Given the description of an element on the screen output the (x, y) to click on. 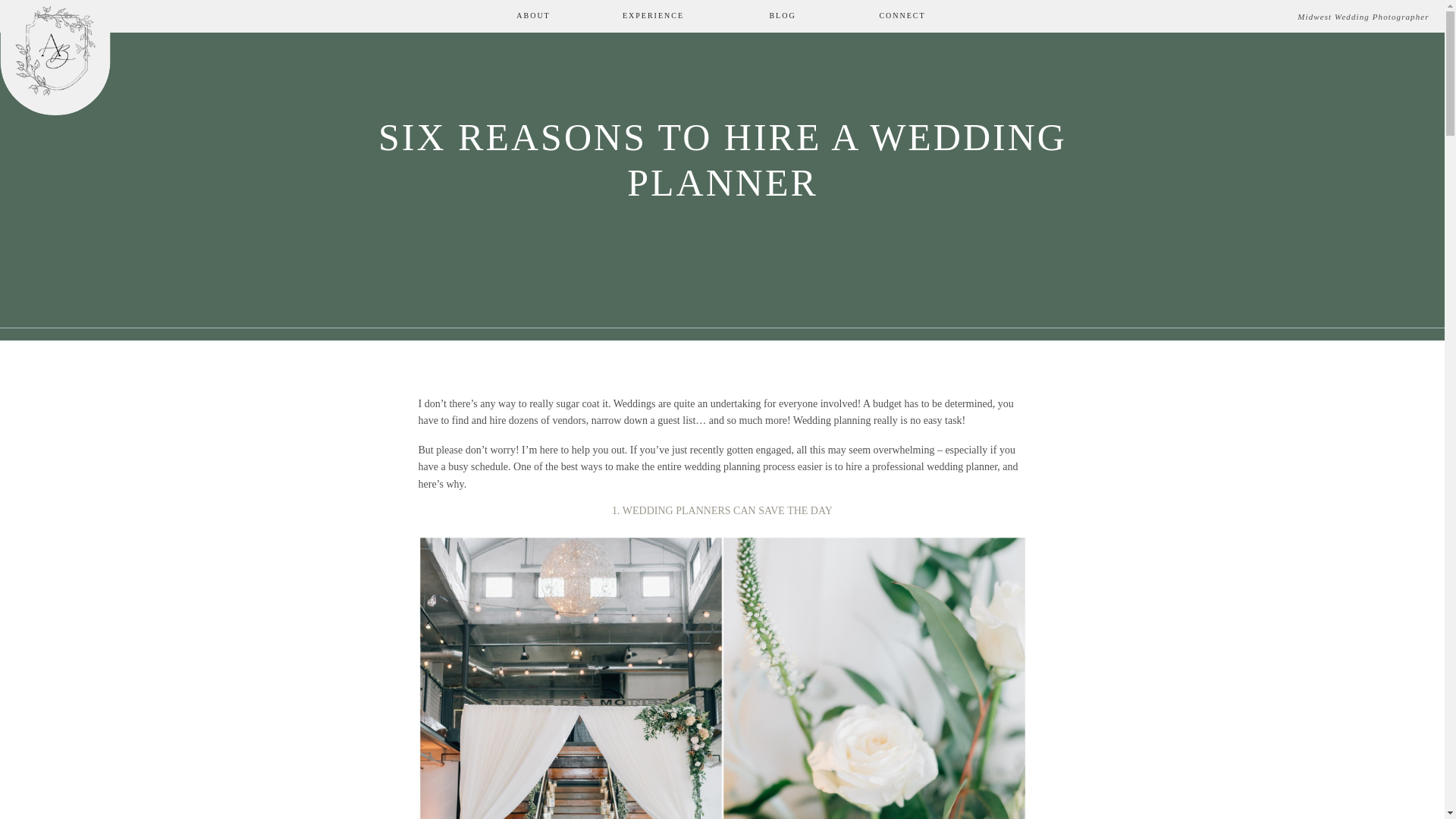
CONNECT (902, 16)
EXPERIENCE (652, 16)
ABOUT (533, 16)
BLOG (783, 16)
